Given the description of an element on the screen output the (x, y) to click on. 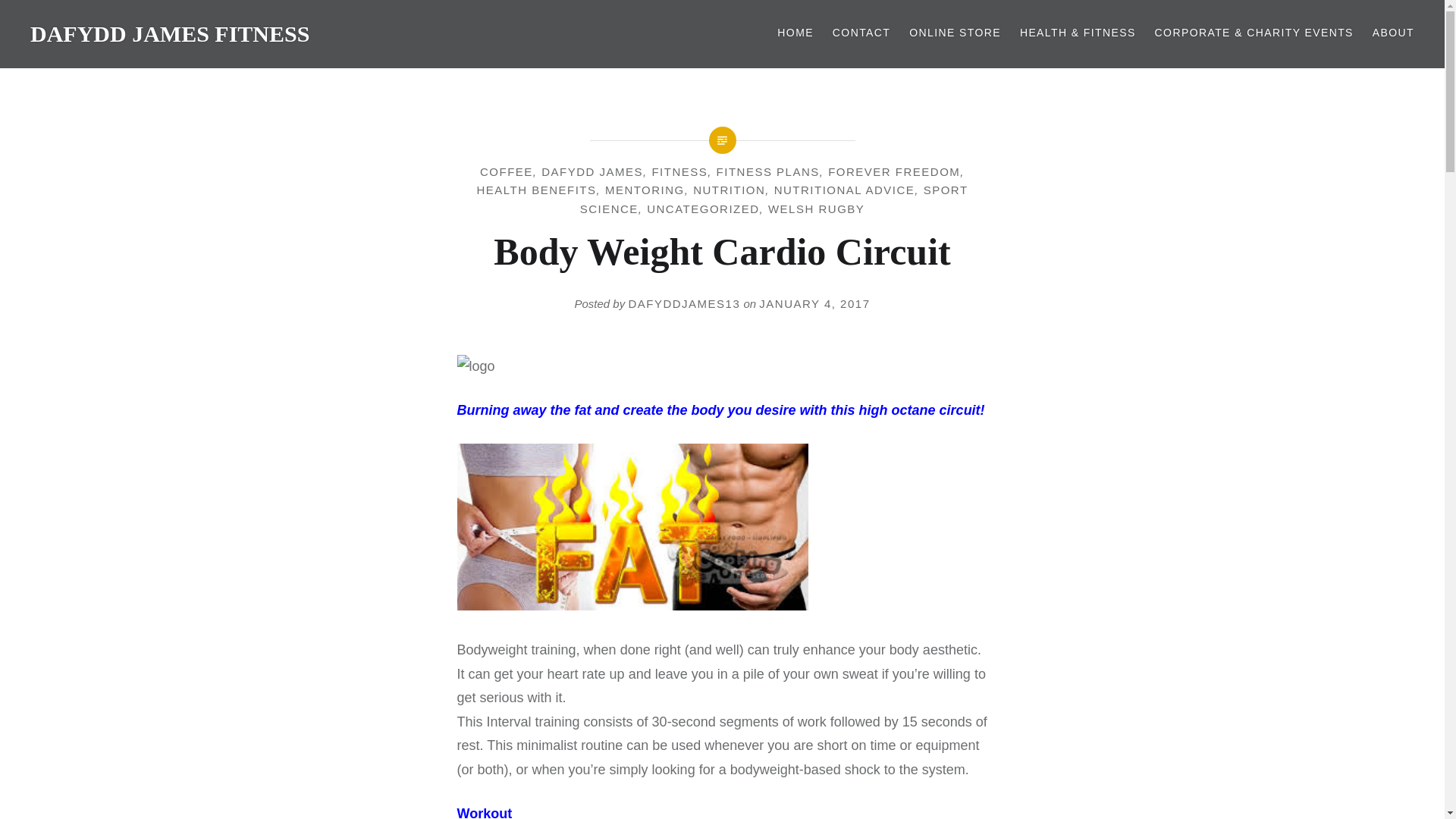
DAFYDD JAMES FITNESS (169, 33)
SPORT SCIENCE (773, 198)
JANUARY 4, 2017 (813, 303)
HEALTH BENEFITS (535, 189)
NUTRITIONAL ADVICE (844, 189)
DAFYDD JAMES (592, 171)
WELSH RUGBY (816, 208)
FOREVER FREEDOM (893, 171)
DAFYDDJAMES13 (683, 303)
ONLINE STORE (954, 32)
